Given the description of an element on the screen output the (x, y) to click on. 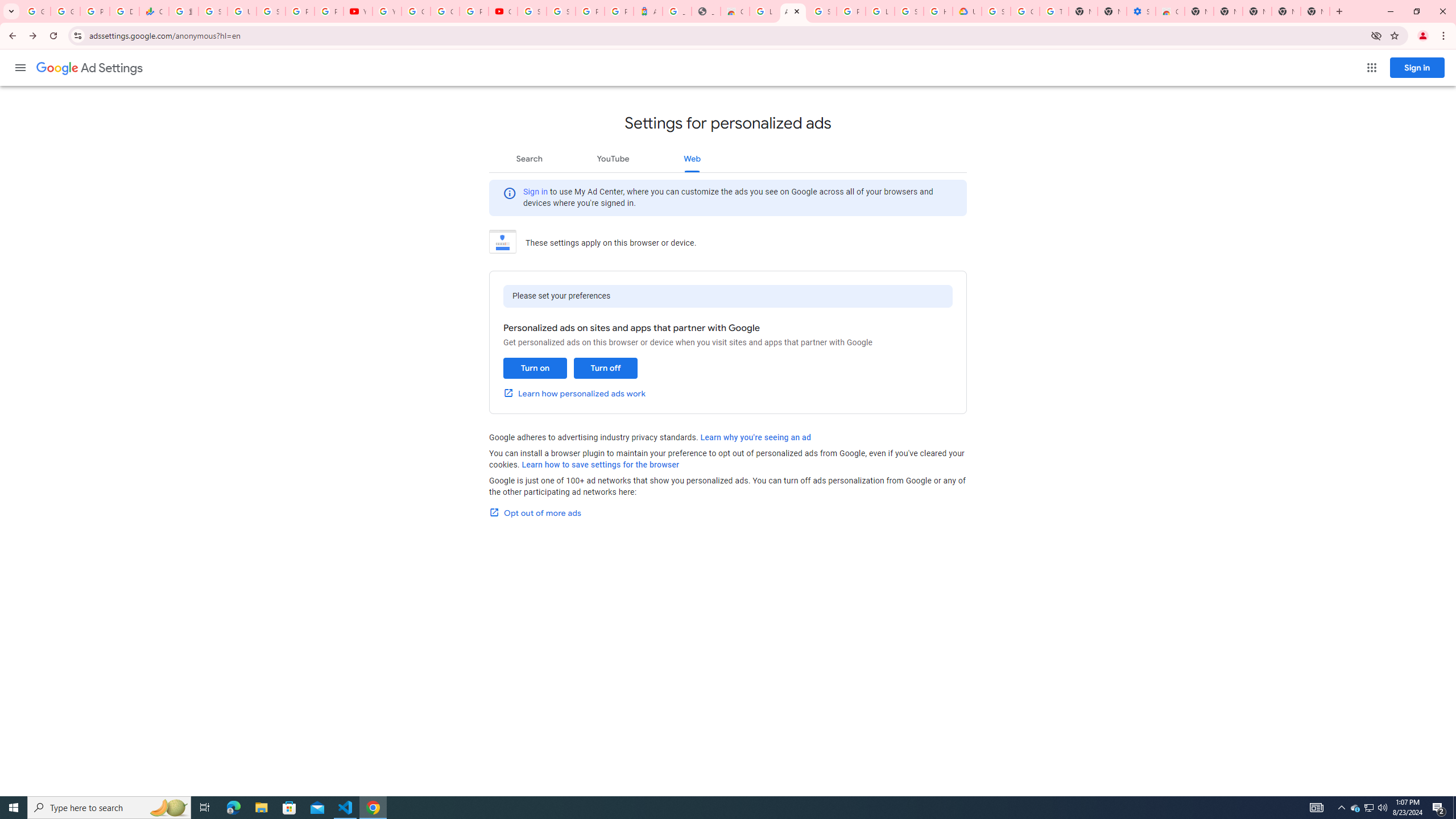
Sign in - Google Accounts (212, 11)
Content Creator Programs & Opportunities - YouTube Creators (502, 11)
Google Account Help (415, 11)
Sign in - Google Accounts (531, 11)
Settings - Accessibility (1140, 11)
Currencies - Google Finance (153, 11)
Ad Settings (792, 11)
Sign in - Google Accounts (560, 11)
Sign in - Google Accounts (996, 11)
